Given the description of an element on the screen output the (x, y) to click on. 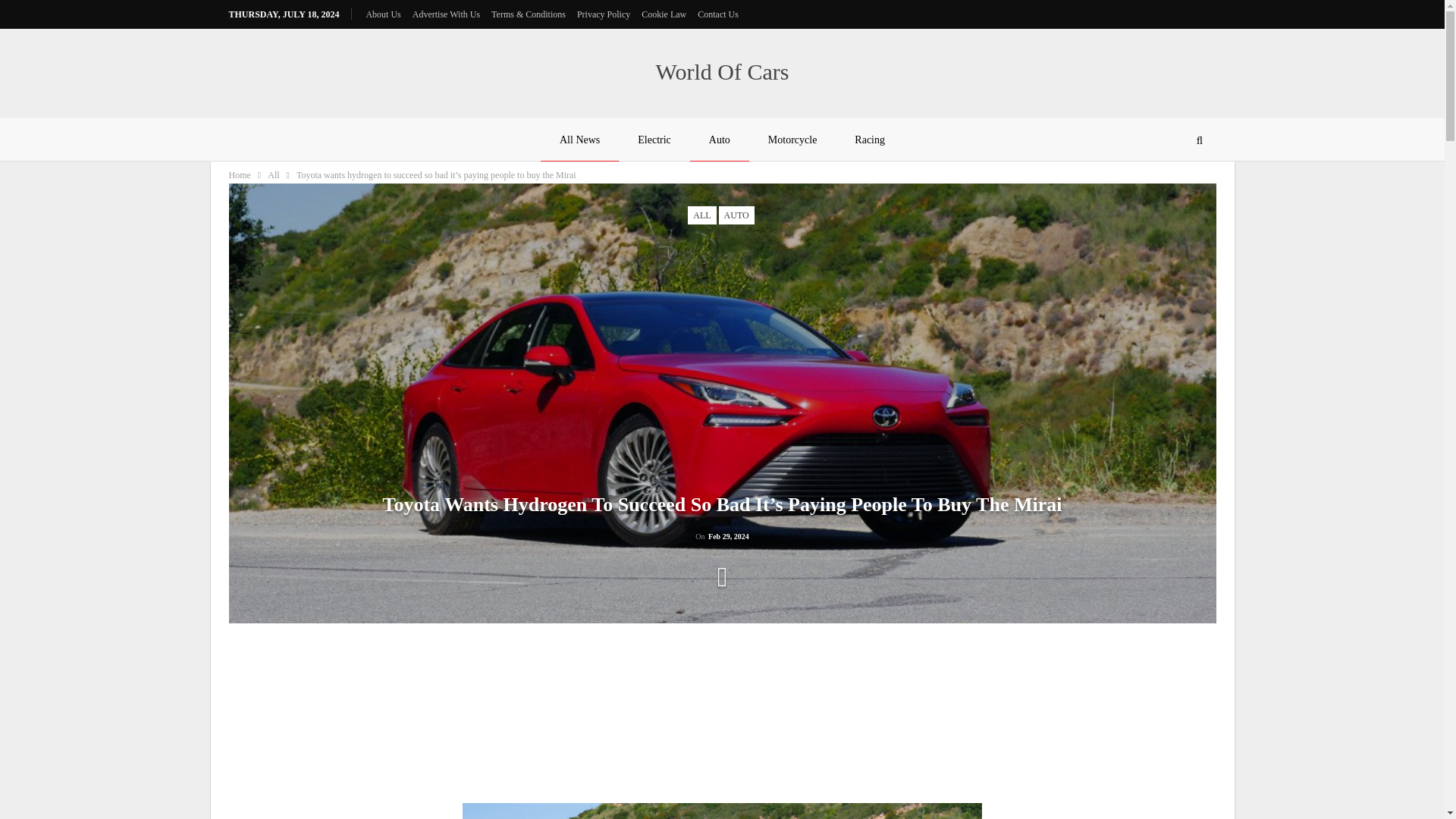
ALL (701, 215)
Auto (719, 139)
Home (239, 175)
Cookie Law (663, 14)
World Of Cars (722, 71)
Advertisement (304, 717)
Advertise With Us (446, 14)
Contact Us (717, 14)
AUTO (736, 215)
About Us (382, 14)
Electric (654, 139)
All News (579, 139)
Motorcycle (792, 139)
Racing (869, 139)
All (273, 175)
